Given the description of an element on the screen output the (x, y) to click on. 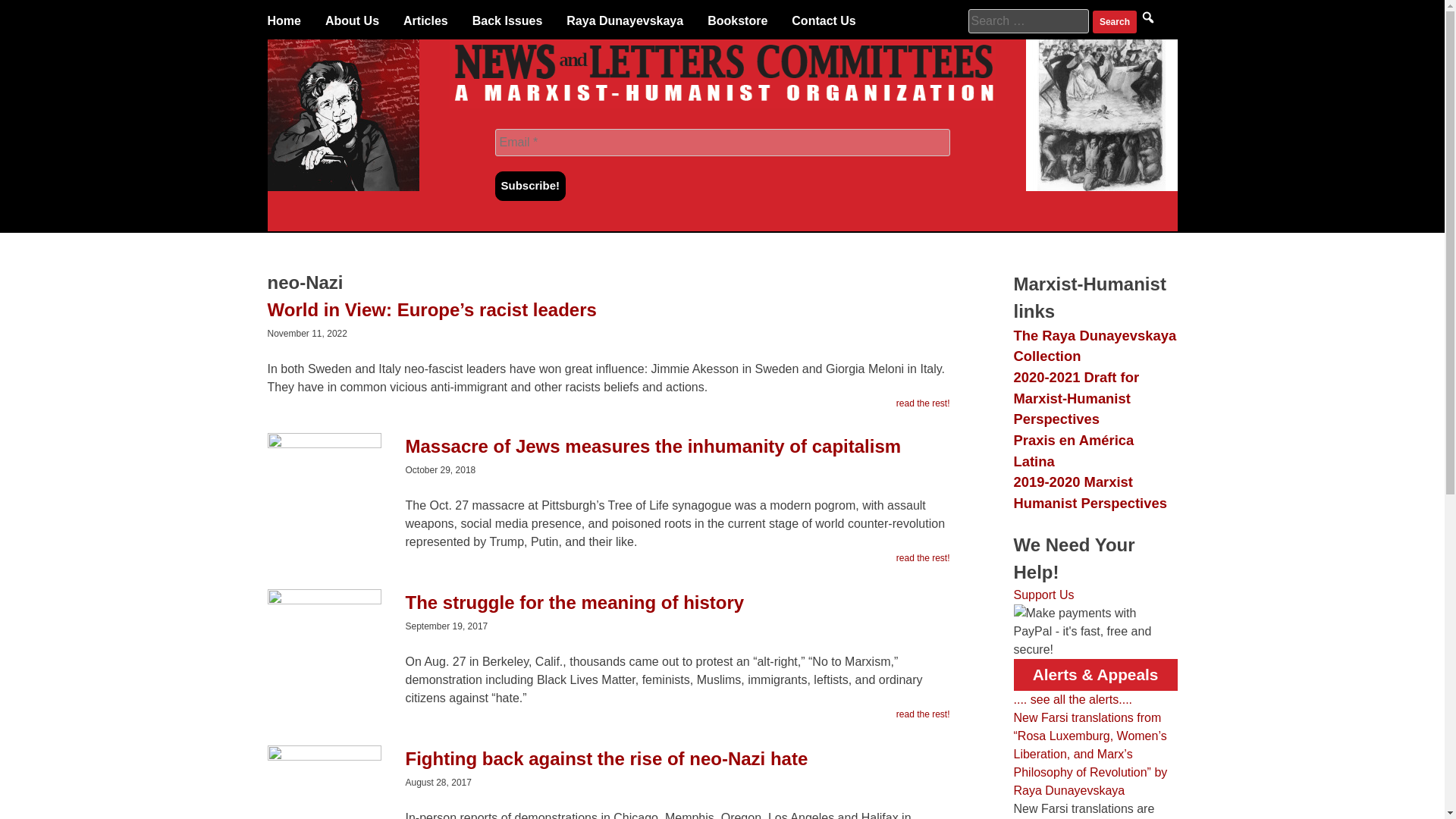
read the rest! (923, 558)
Search (1115, 21)
Raya Dunayevskaya (624, 21)
Bookstore (737, 21)
.... see all the alerts.... (1072, 698)
News and Letters Committees (722, 103)
The Raya Dunayevskaya Collection (1094, 345)
Email (722, 142)
Subscribe! (530, 185)
Contact Us (824, 21)
About Us (351, 21)
read the rest! (923, 403)
2019-2020 Marxist Humanist Perspectives (1089, 492)
Massacre of Jews measures the inhumanity of capitalism (607, 454)
